Given the description of an element on the screen output the (x, y) to click on. 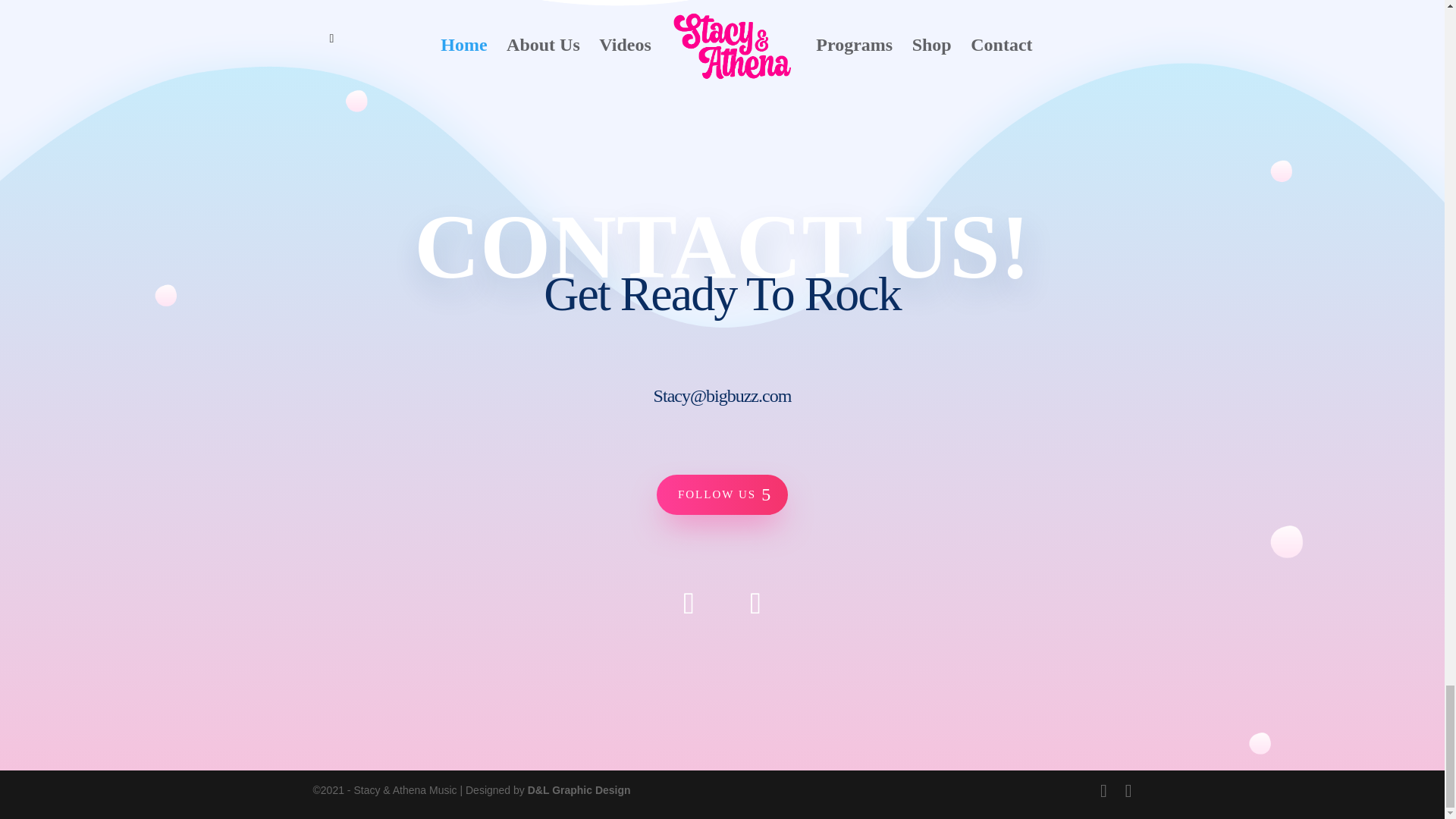
Follow on Facebook (688, 603)
Follow on Youtube (755, 603)
FOLLOW US (721, 495)
